Given the description of an element on the screen output the (x, y) to click on. 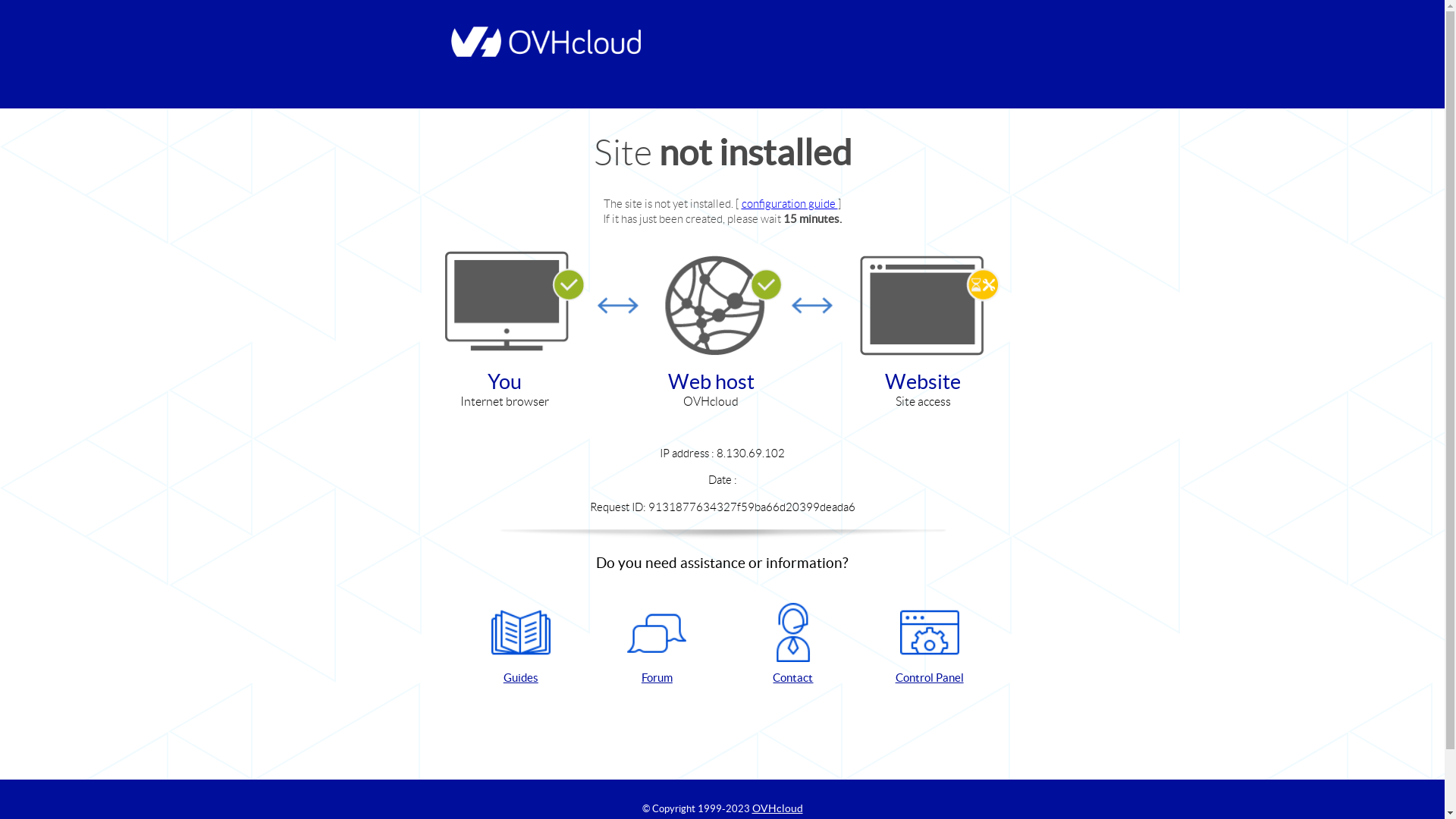
Control Panel Element type: text (929, 644)
Guides Element type: text (520, 644)
Forum Element type: text (656, 644)
OVHcloud Element type: text (777, 808)
Contact Element type: text (792, 644)
configuration guide Element type: text (789, 203)
